Given the description of an element on the screen output the (x, y) to click on. 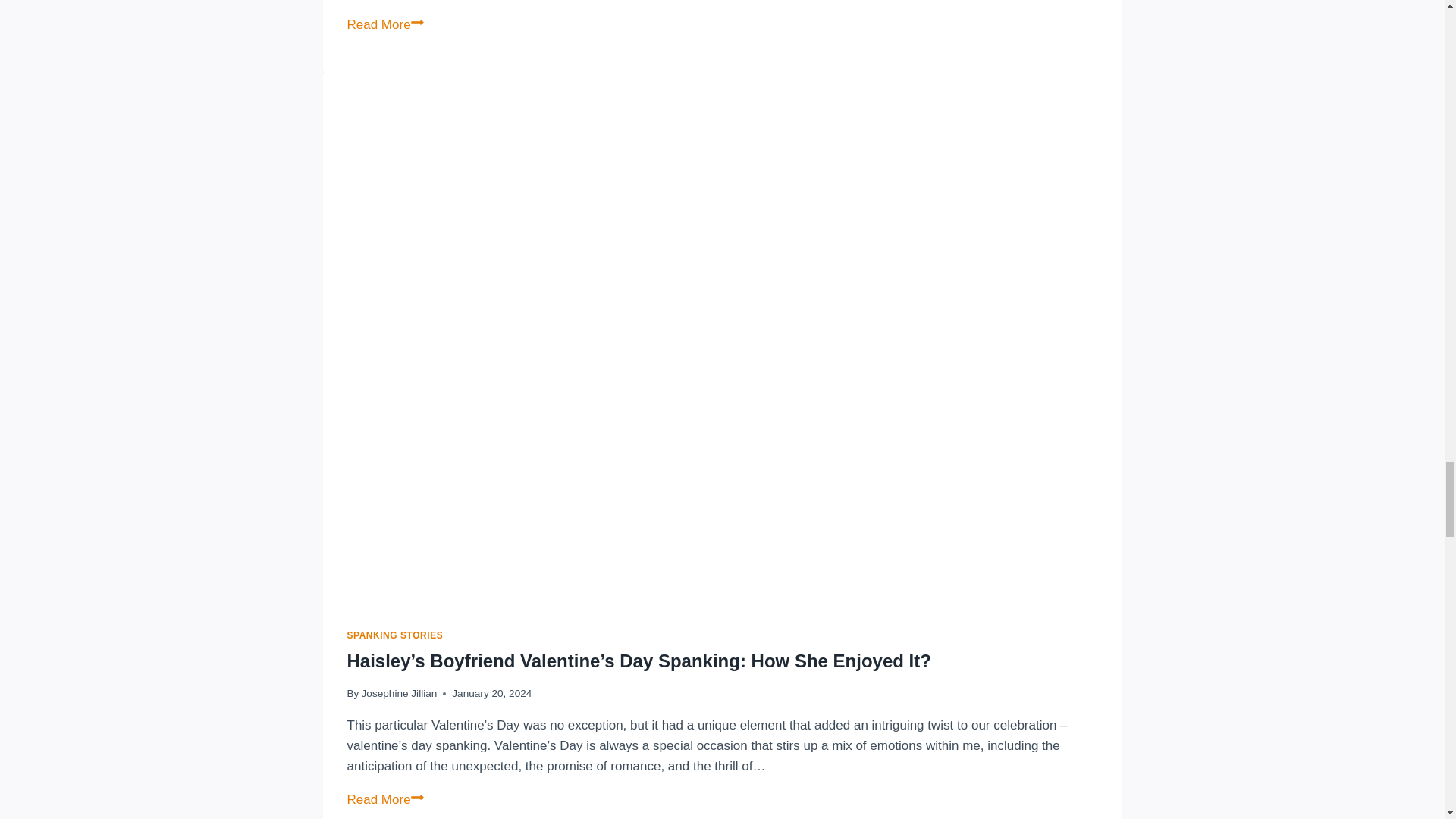
Josephine Jillian (399, 693)
SPANKING STORIES (395, 634)
